Given the description of an element on the screen output the (x, y) to click on. 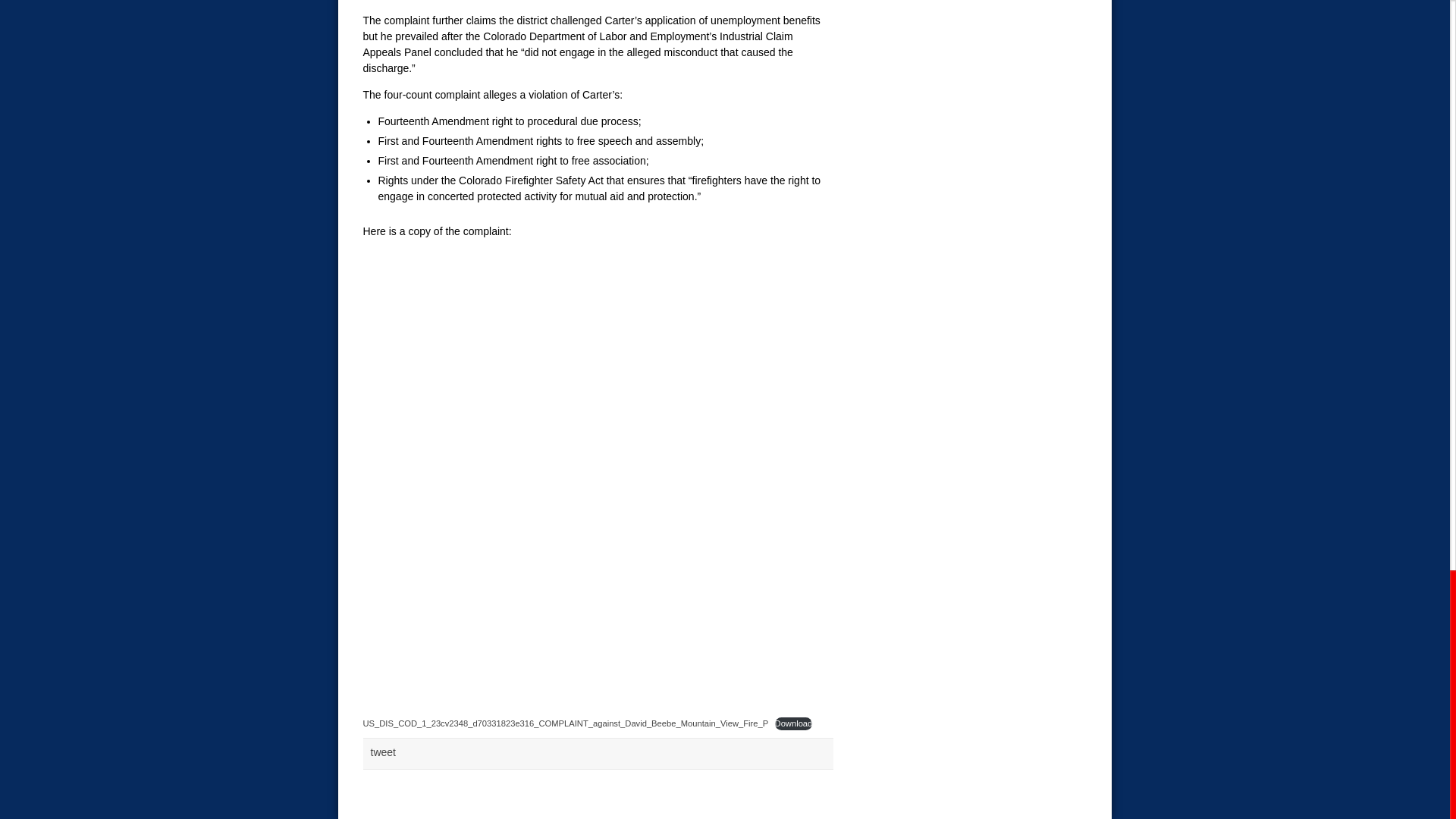
Download (793, 723)
tweet (381, 752)
